Given the description of an element on the screen output the (x, y) to click on. 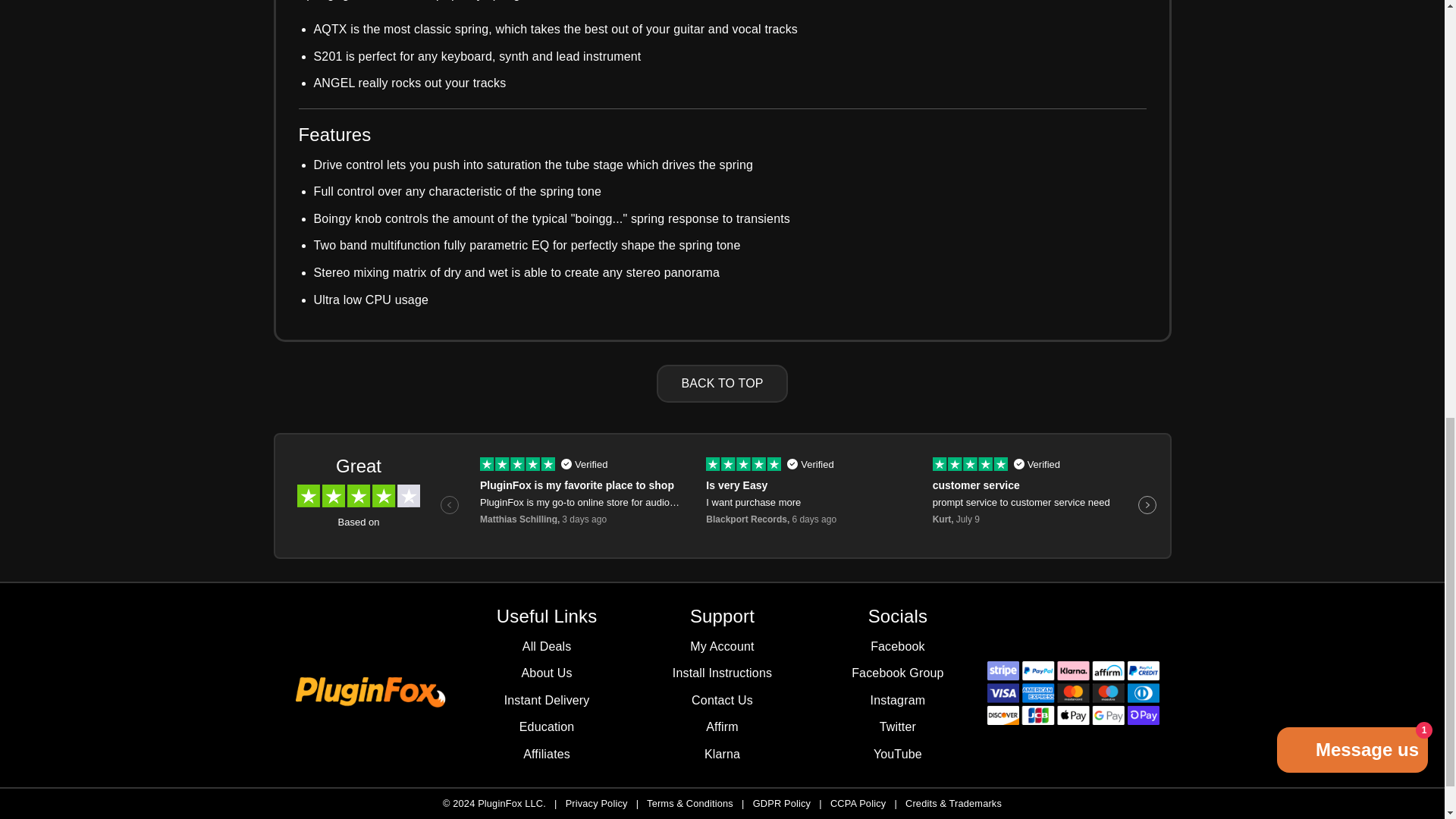
Back to top (721, 383)
Customer reviews powered by Trustpilot (721, 495)
